Given the description of an element on the screen output the (x, y) to click on. 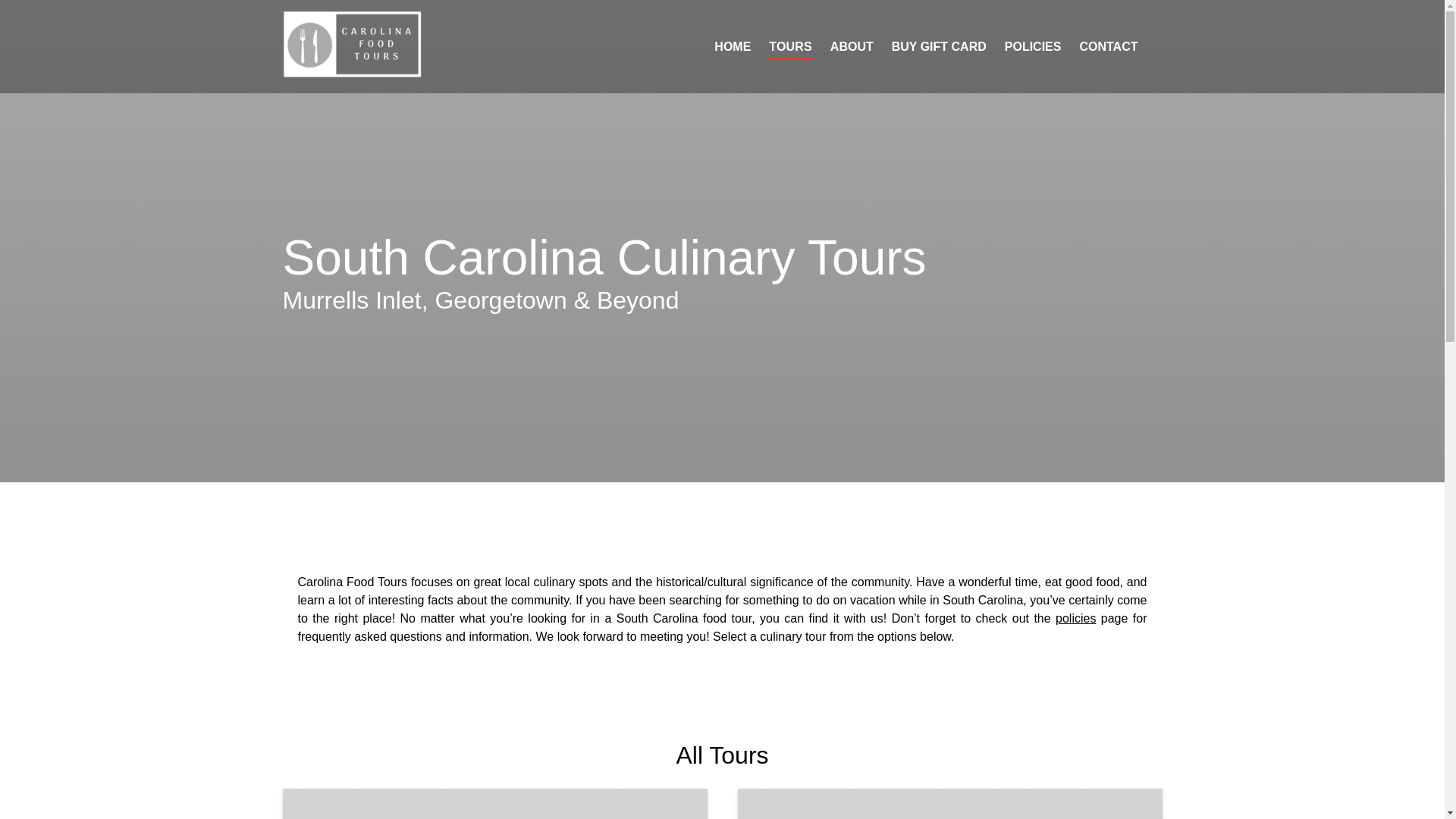
activity link (494, 803)
CONTACT (1108, 46)
Skip to primary navigation (77, 16)
TOURS (790, 46)
Skip to content (47, 16)
BUY GIFT CARD (938, 46)
activity link (948, 803)
ABOUT (851, 46)
Skip to footer (42, 16)
POLICIES (1032, 46)
